Given the description of an element on the screen output the (x, y) to click on. 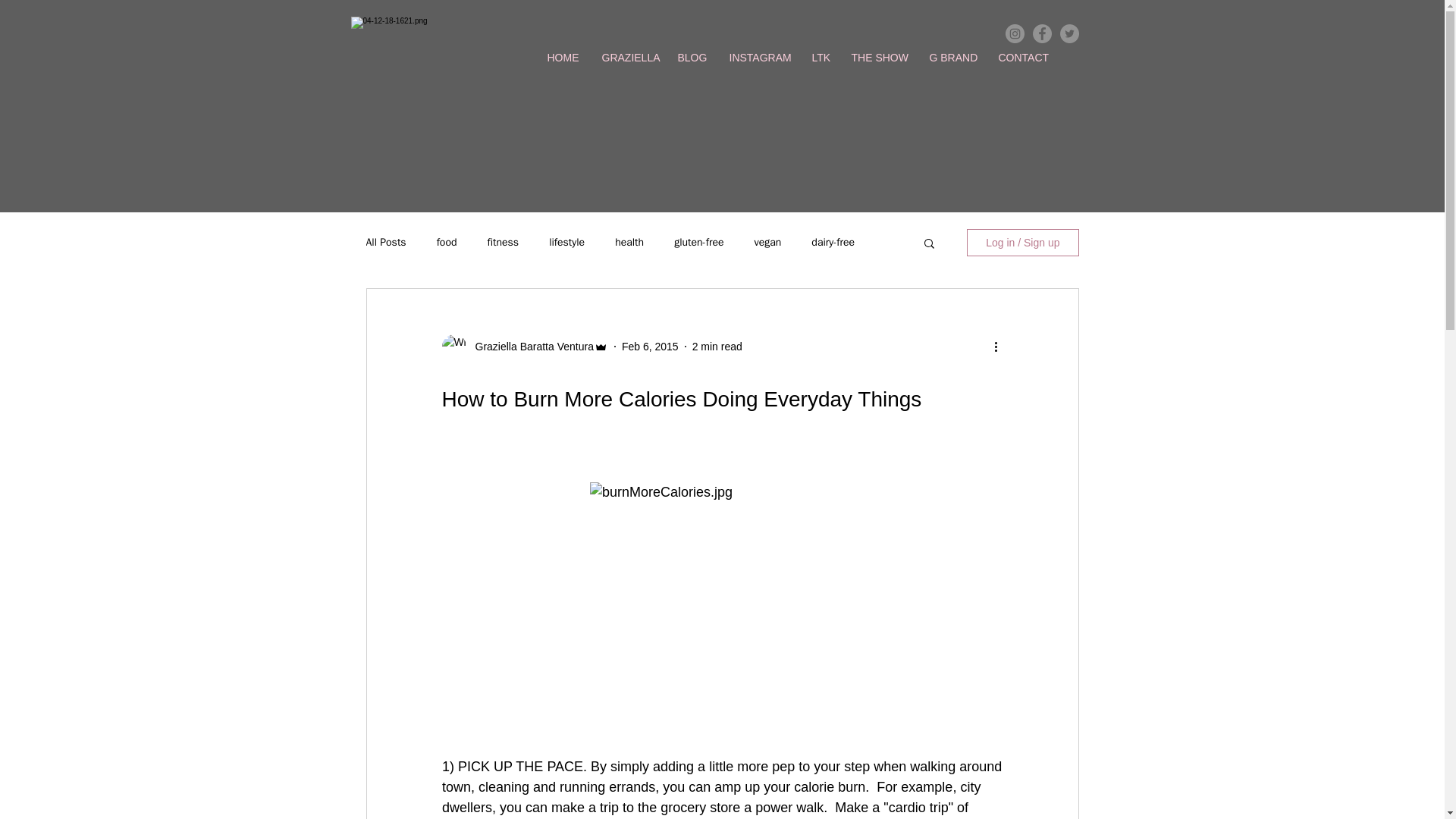
vegan (767, 242)
HOME (563, 57)
GRAZIELLA (627, 57)
food (446, 242)
Feb 6, 2015 (649, 345)
All Posts (385, 242)
THE SHOW (879, 57)
lifestyle (566, 242)
G BRAND (952, 57)
BLOG (691, 57)
fitness (502, 242)
health (628, 242)
gluten-free (698, 242)
2 min read (717, 345)
Graziella Baratta Ventura (528, 345)
